Given the description of an element on the screen output the (x, y) to click on. 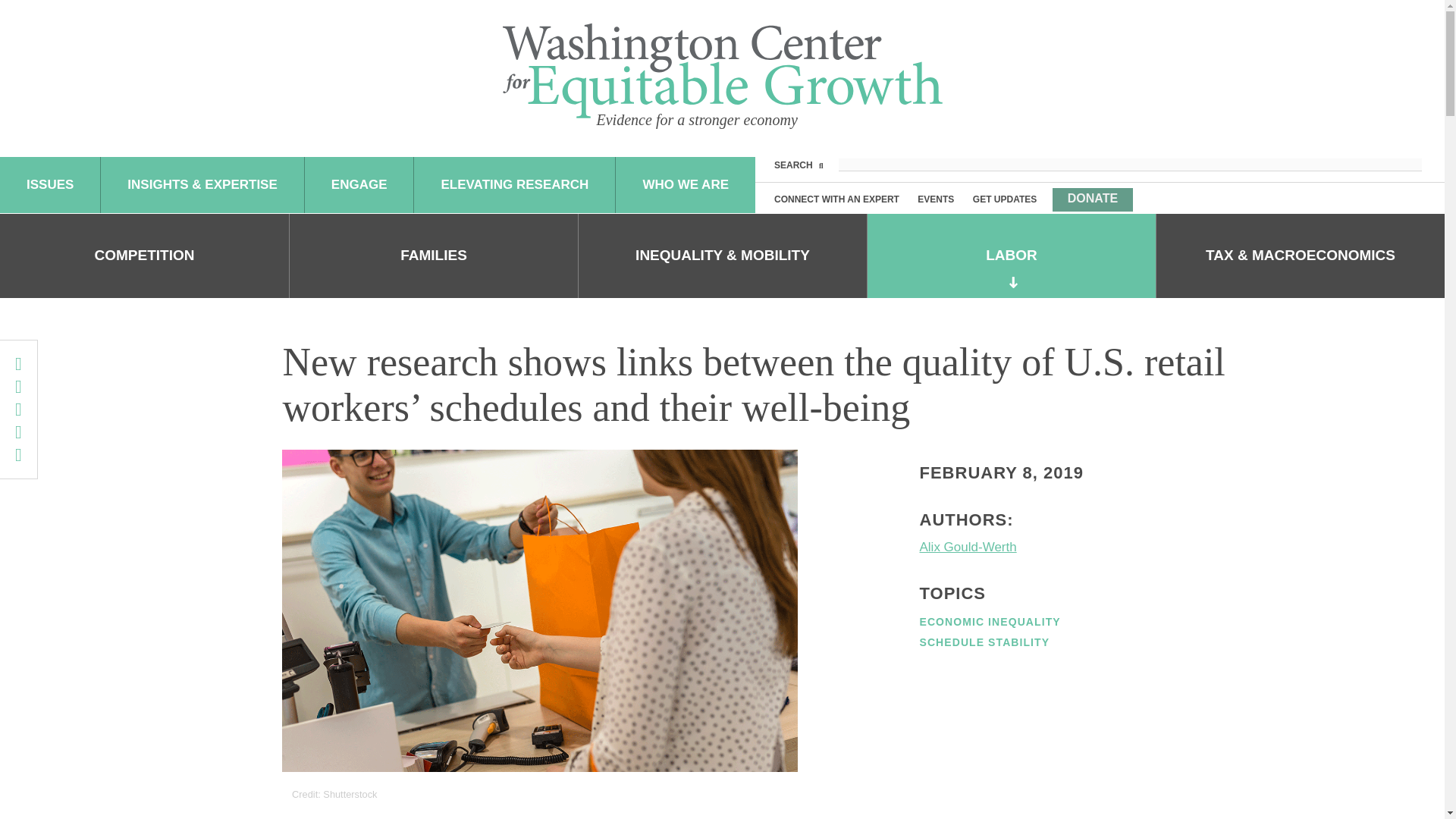
Alix Gould-Werth (1039, 547)
ISSUES (50, 184)
Economic Inequality (988, 621)
Search for: (1130, 164)
Schedule Stability (983, 642)
